Given the description of an element on the screen output the (x, y) to click on. 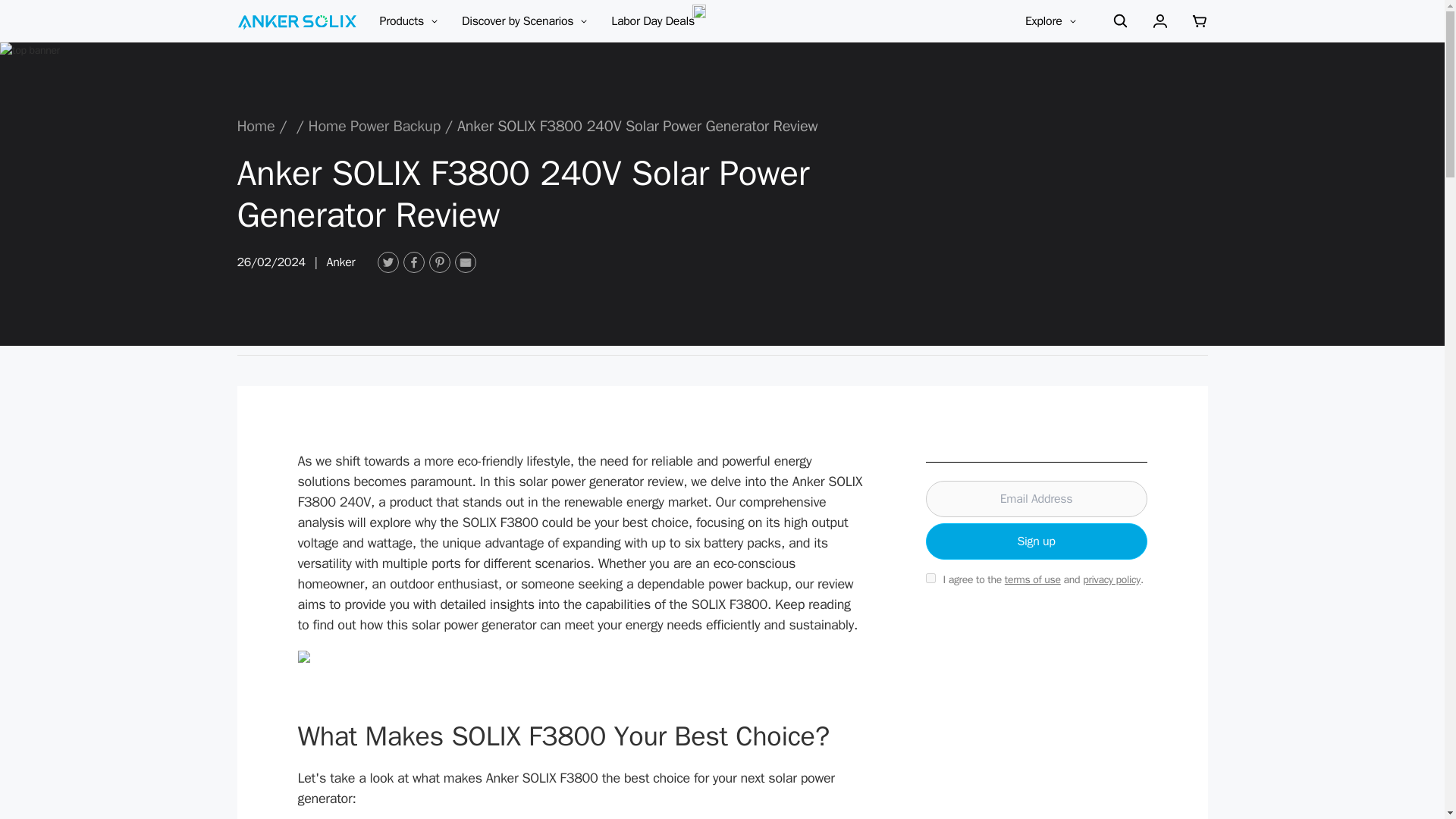
Email this to a friend (465, 261)
privacy policy (1111, 579)
on (929, 578)
Share this on Pinterest (439, 261)
Share this on Facebook (414, 261)
Discover by Scenarios (524, 21)
Explore (1051, 21)
Products (400, 21)
terms of use (1032, 579)
Home Power Backup (374, 126)
